Given the description of an element on the screen output the (x, y) to click on. 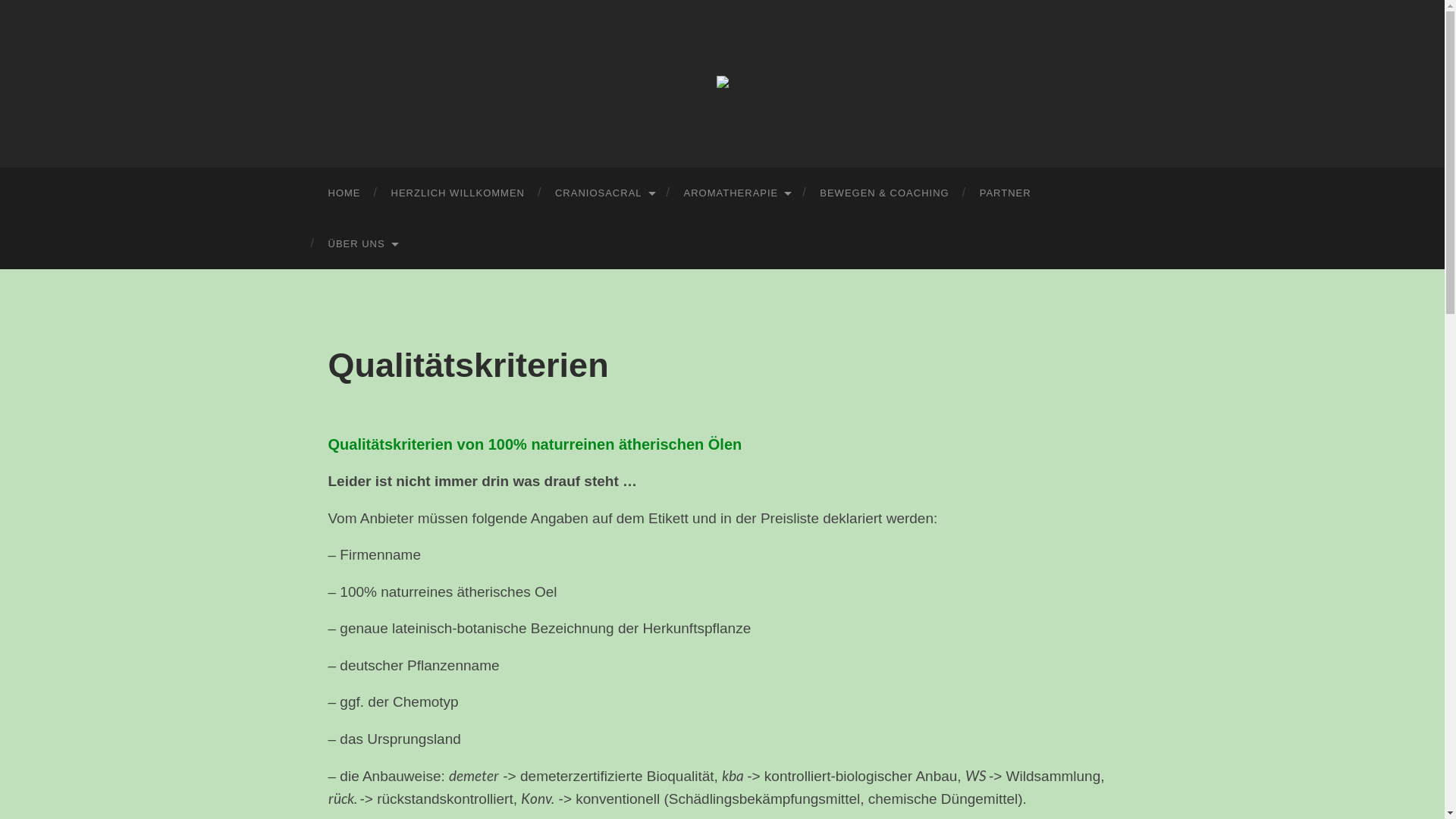
HOME Element type: text (343, 192)
HERZLICH WILLKOMMEN Element type: text (457, 192)
AROMATHERAPIE Element type: text (736, 192)
PARTNER Element type: text (1005, 192)
CRANIOSACRAL Element type: text (603, 192)
BEWEGEN & COACHING Element type: text (883, 192)
